Given the description of an element on the screen output the (x, y) to click on. 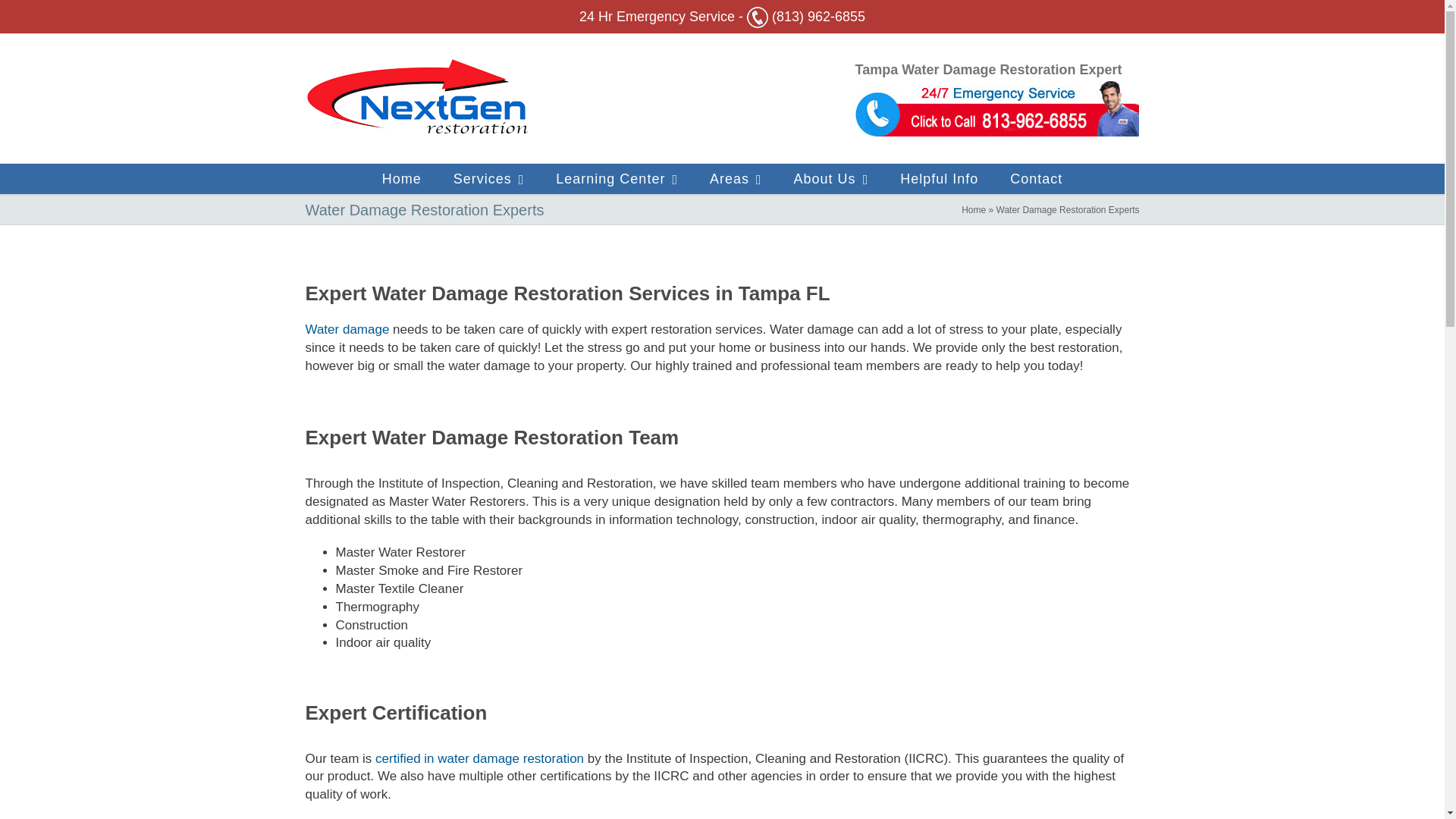
Home (402, 178)
Areas (735, 178)
About Us (831, 178)
Helpful Info (938, 178)
Learning Center (617, 178)
Contact (1036, 178)
Services (489, 178)
